Given the description of an element on the screen output the (x, y) to click on. 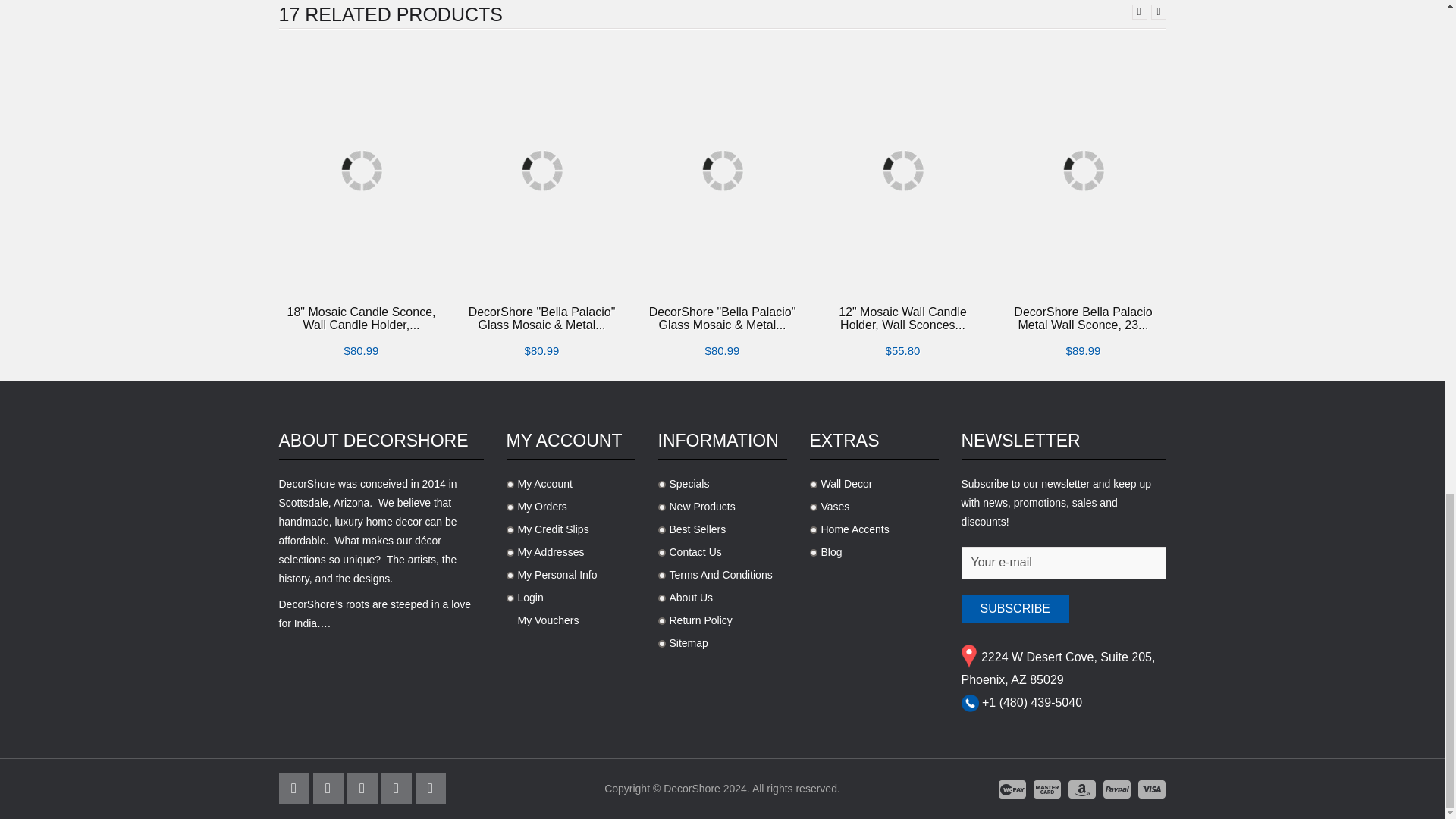
Your e-mail (1063, 563)
